Given the description of an element on the screen output the (x, y) to click on. 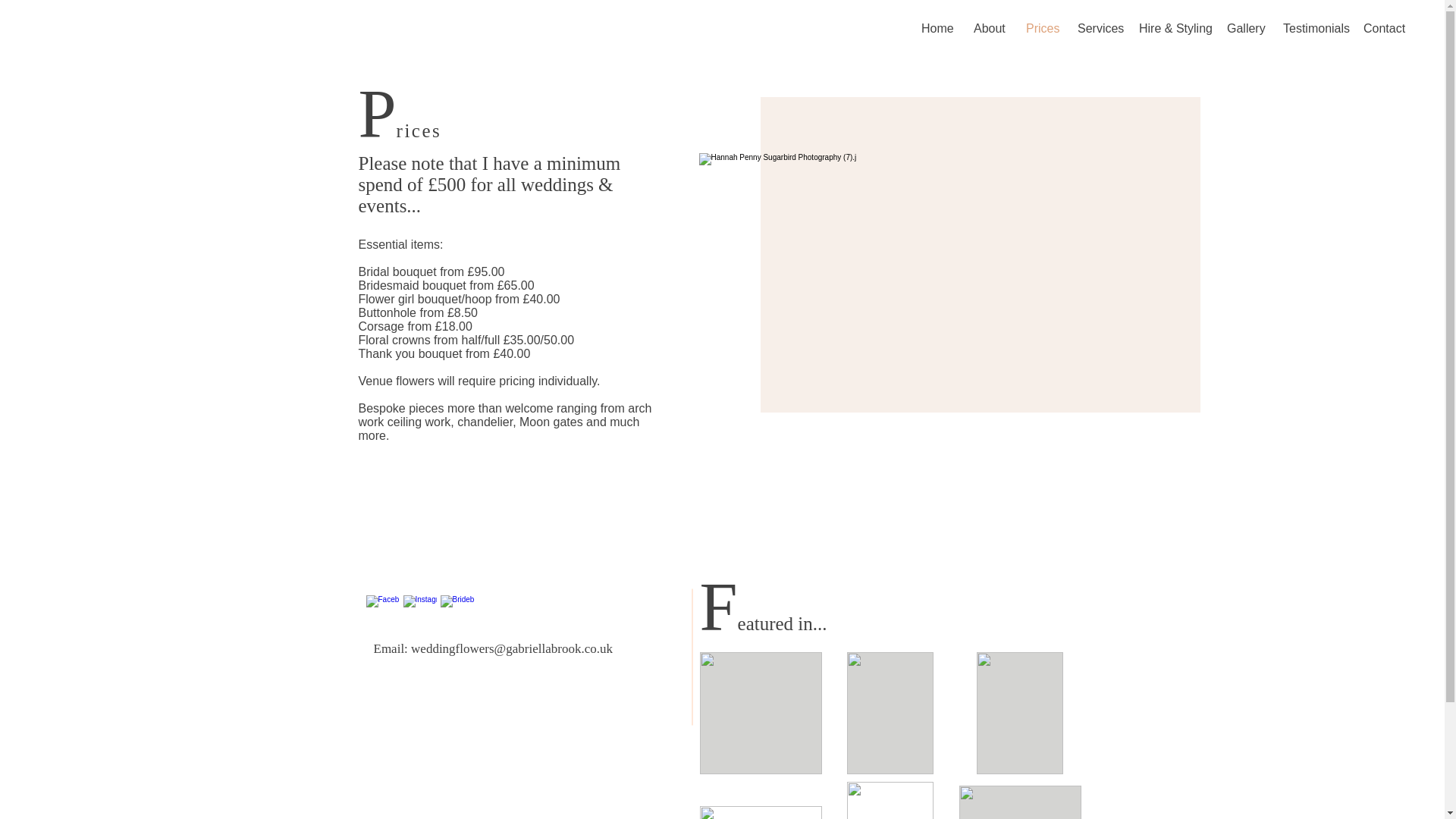
Testimonials (1311, 28)
About (988, 28)
Prices (1039, 28)
Services (1095, 28)
Home (936, 28)
Contact (1382, 28)
Gallery (1243, 28)
